Given the description of an element on the screen output the (x, y) to click on. 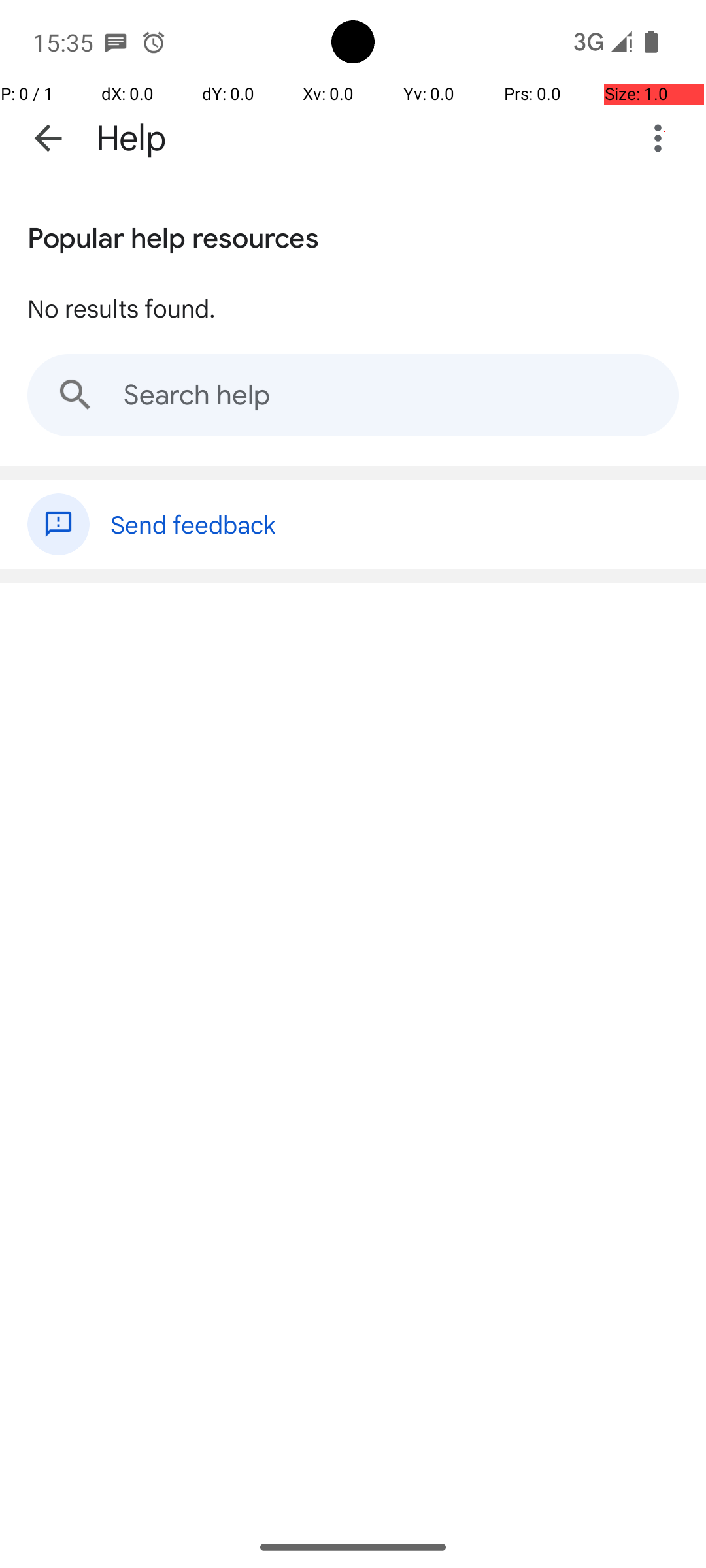
Popular help resources Element type: android.widget.TextView (173, 235)
Search help Element type: androidx.cardview.widget.CardView (352, 395)
No results found. Element type: android.widget.TextView (121, 307)
